Given the description of an element on the screen output the (x, y) to click on. 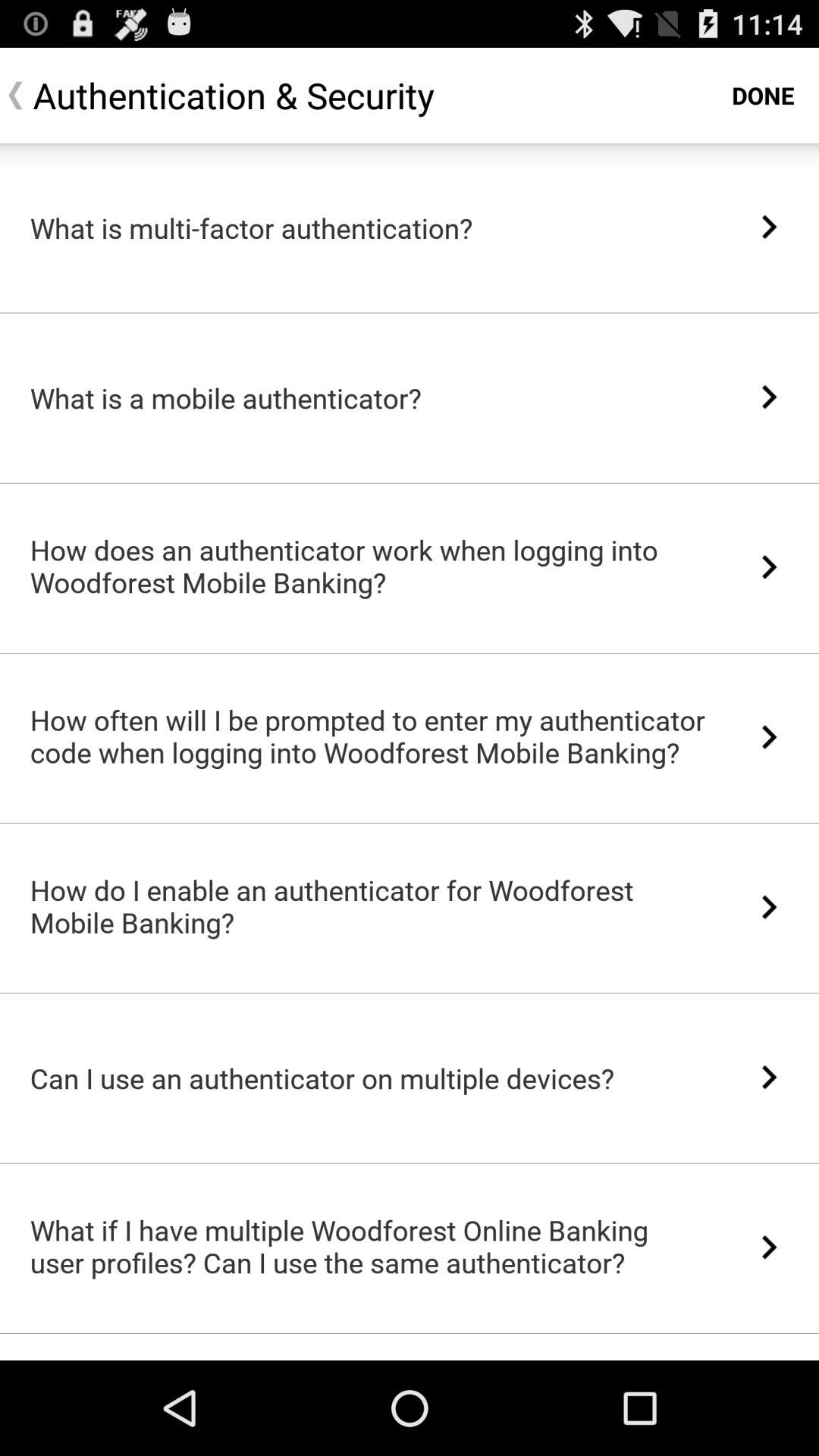
open the item to the right of the what is a icon (768, 396)
